Given the description of an element on the screen output the (x, y) to click on. 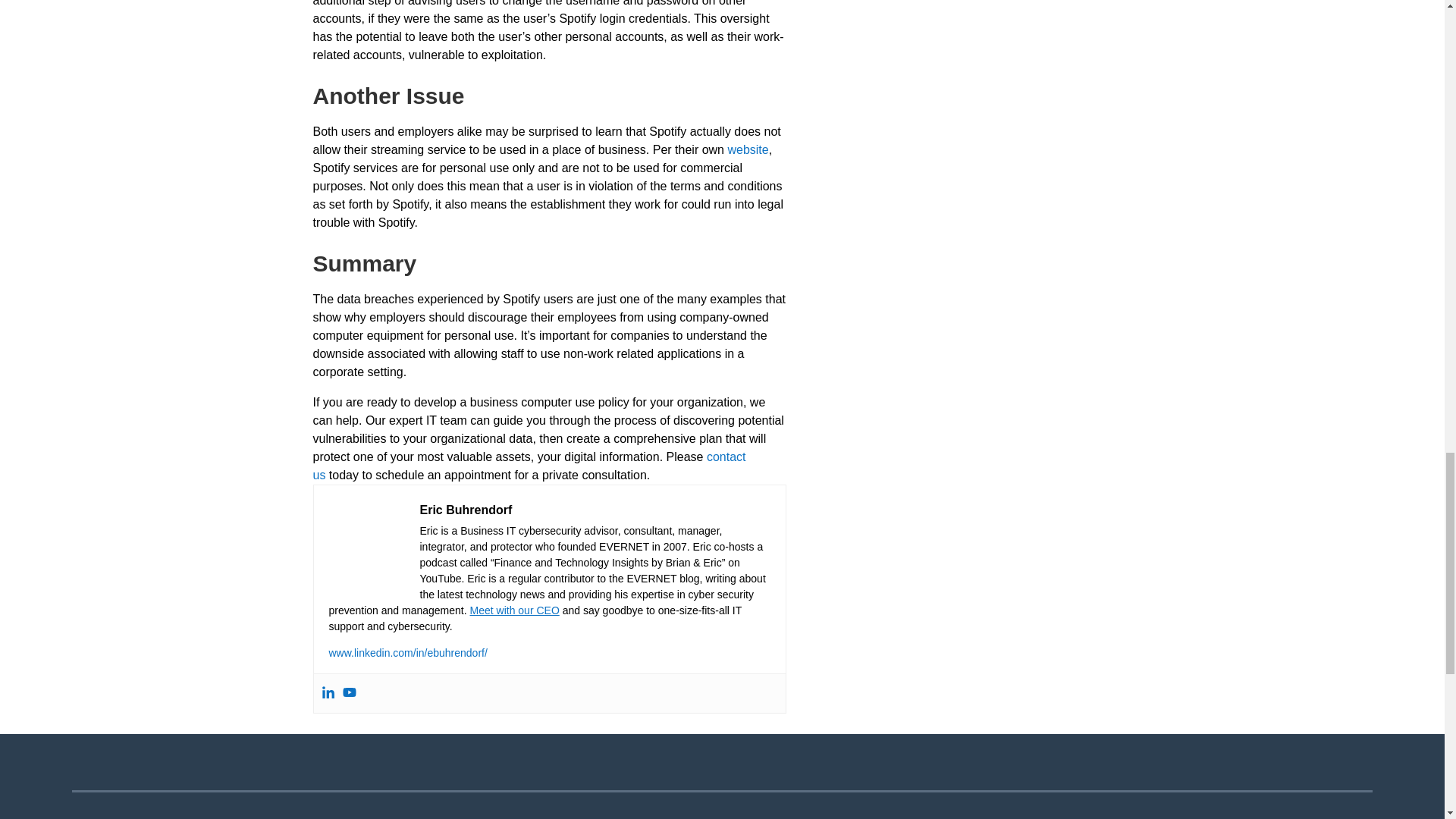
Eric Buhrendorf (466, 509)
Meet with our CEO (514, 610)
website (747, 149)
Linkedin (327, 693)
contact us (529, 465)
Youtube (349, 693)
